Given the description of an element on the screen output the (x, y) to click on. 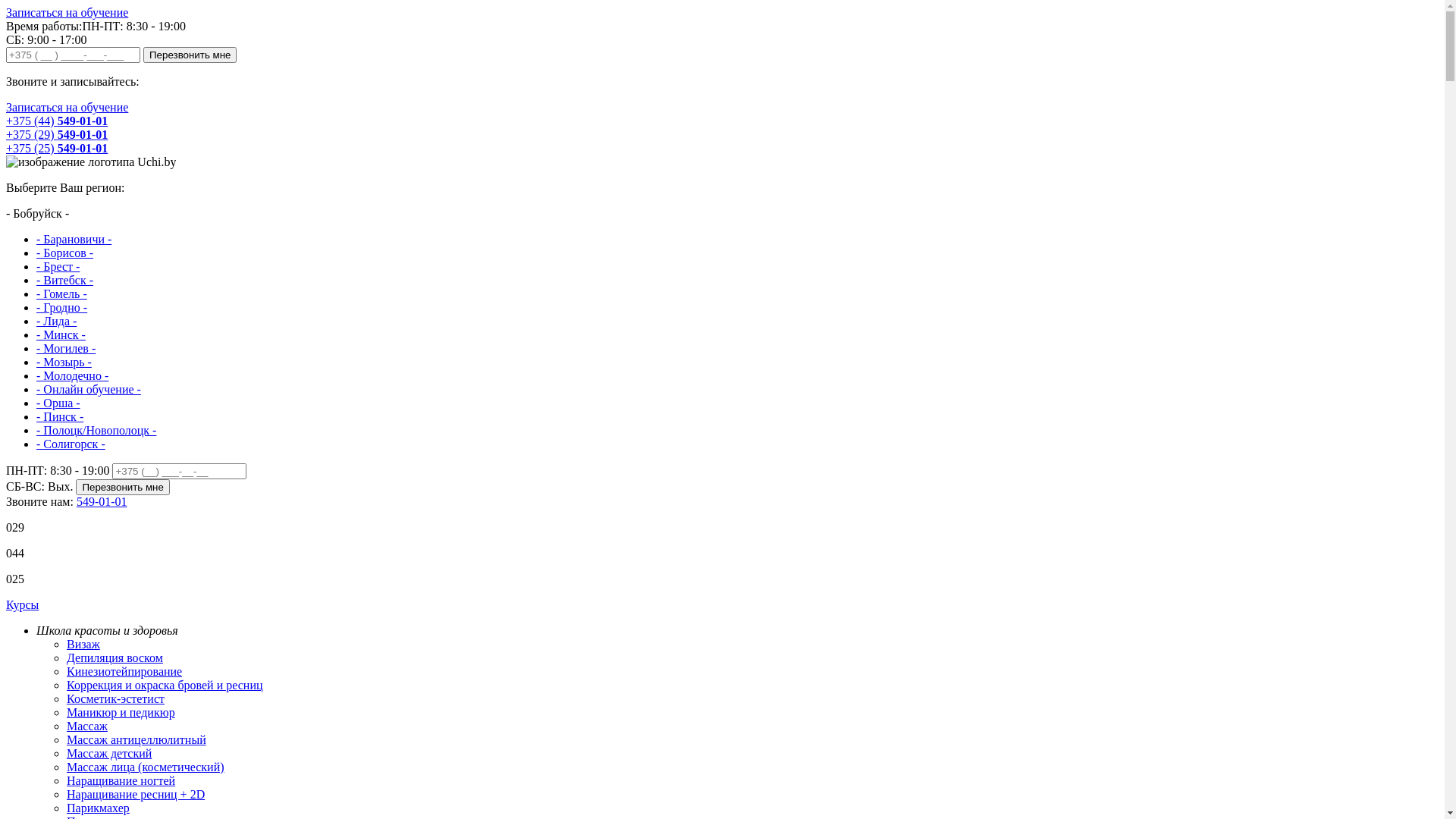
+375 (29) 549-01-01 Element type: text (56, 134)
+375 (44) 549-01-01 Element type: text (56, 120)
549-01-01 Element type: text (101, 501)
+375 (25) 549-01-01 Element type: text (56, 147)
